Given the description of an element on the screen output the (x, y) to click on. 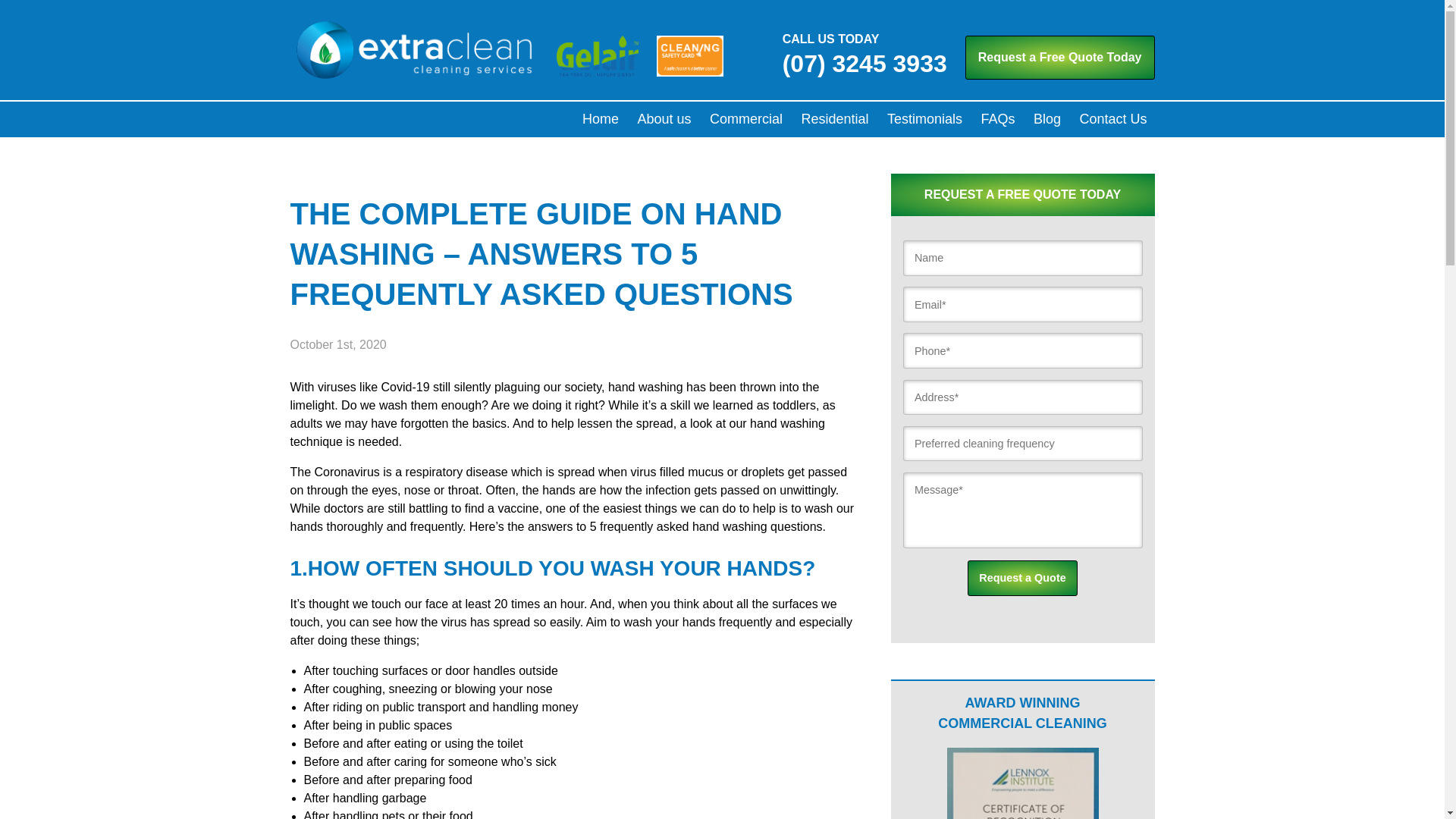
Residential Element type: text (834, 119)
Testimonials Element type: text (924, 119)
About us Element type: text (663, 119)
FAQs Element type: text (997, 119)
Contact Us Element type: text (1112, 119)
Home Element type: text (600, 119)
Blog Element type: text (1047, 119)
Request a Quote Element type: text (1022, 578)
CALL US TODAY
(07) 3245 3933 Element type: text (852, 57)
Request a Free Quote Today Element type: text (1059, 57)
Commercial Element type: text (746, 119)
